Given the description of an element on the screen output the (x, y) to click on. 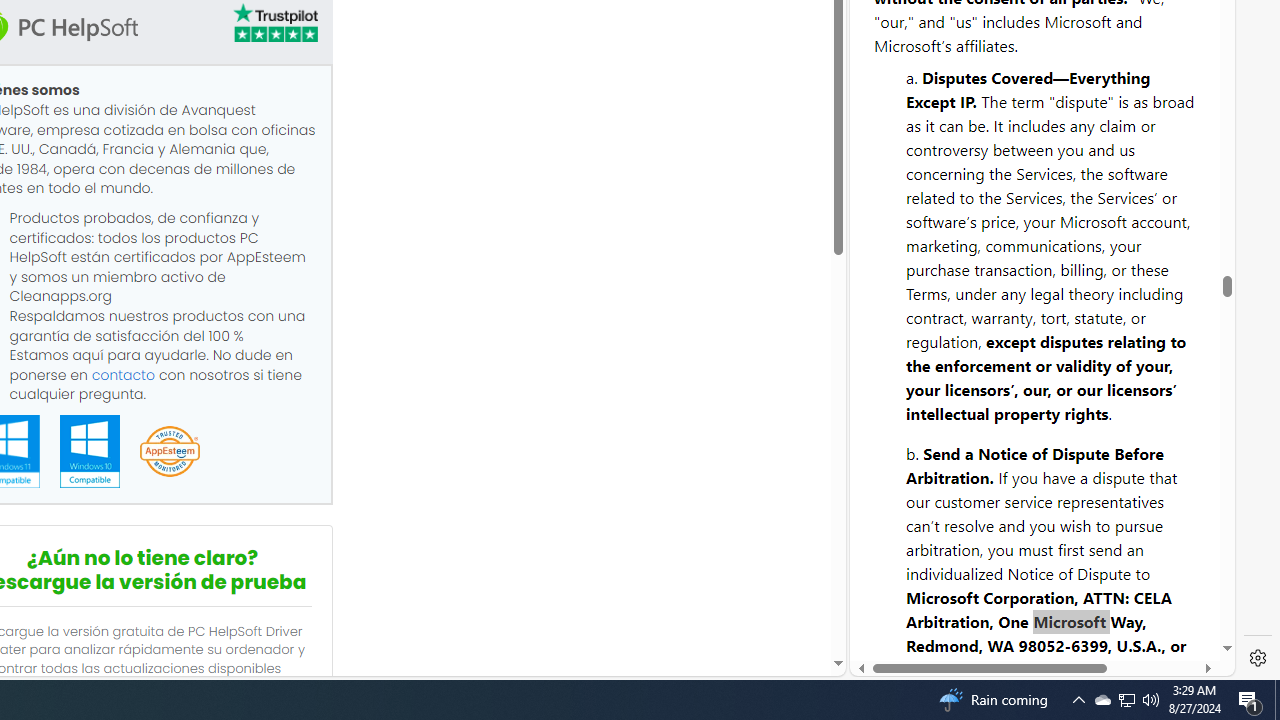
App Esteem (169, 452)
Windows 10 Compatible (89, 451)
TrustPilot (274, 25)
App Esteem (169, 452)
TrustPilot (274, 22)
Open in New Tab (1042, 631)
